Given the description of an element on the screen output the (x, y) to click on. 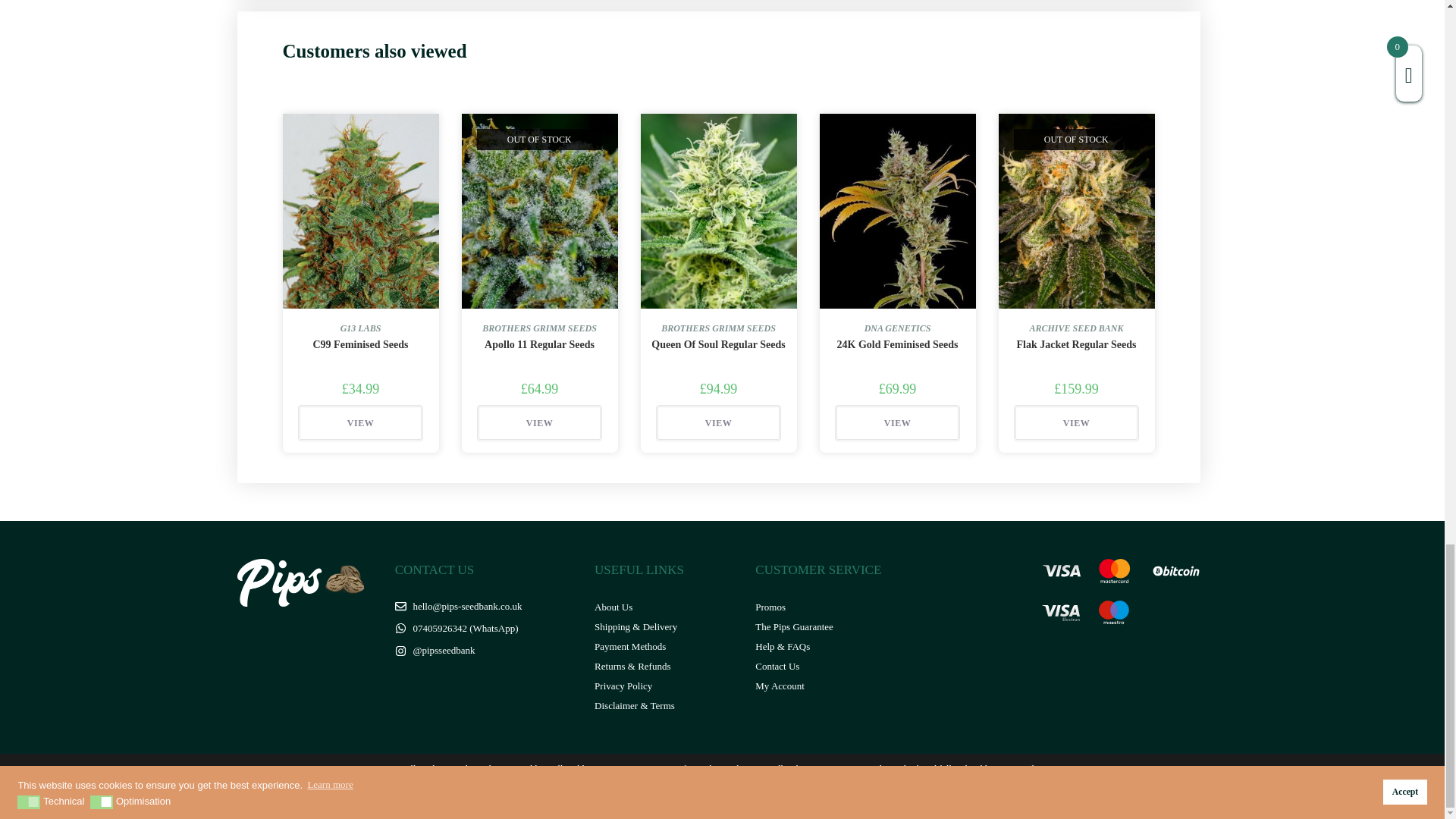
pips-seeds-white-3 (303, 582)
